Given the description of an element on the screen output the (x, y) to click on. 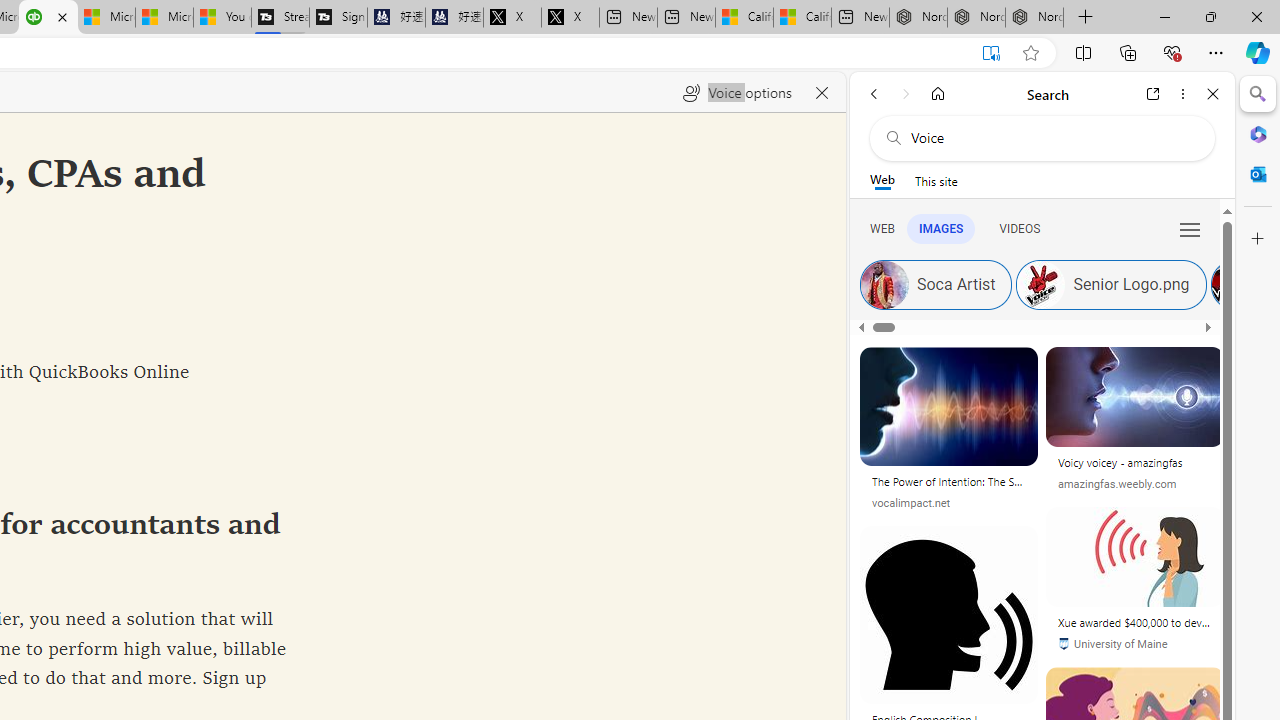
Open link in new tab (1153, 93)
Image result for Voice (1134, 556)
Search the web (1051, 137)
Nordace - Best Sellers (918, 17)
vocalimpact.net (948, 502)
Soca Artist (884, 284)
Nordace Siena Pro 15 Backpack (976, 17)
Customize (1258, 239)
Senior Logo.png (1111, 284)
